Given the description of an element on the screen output the (x, y) to click on. 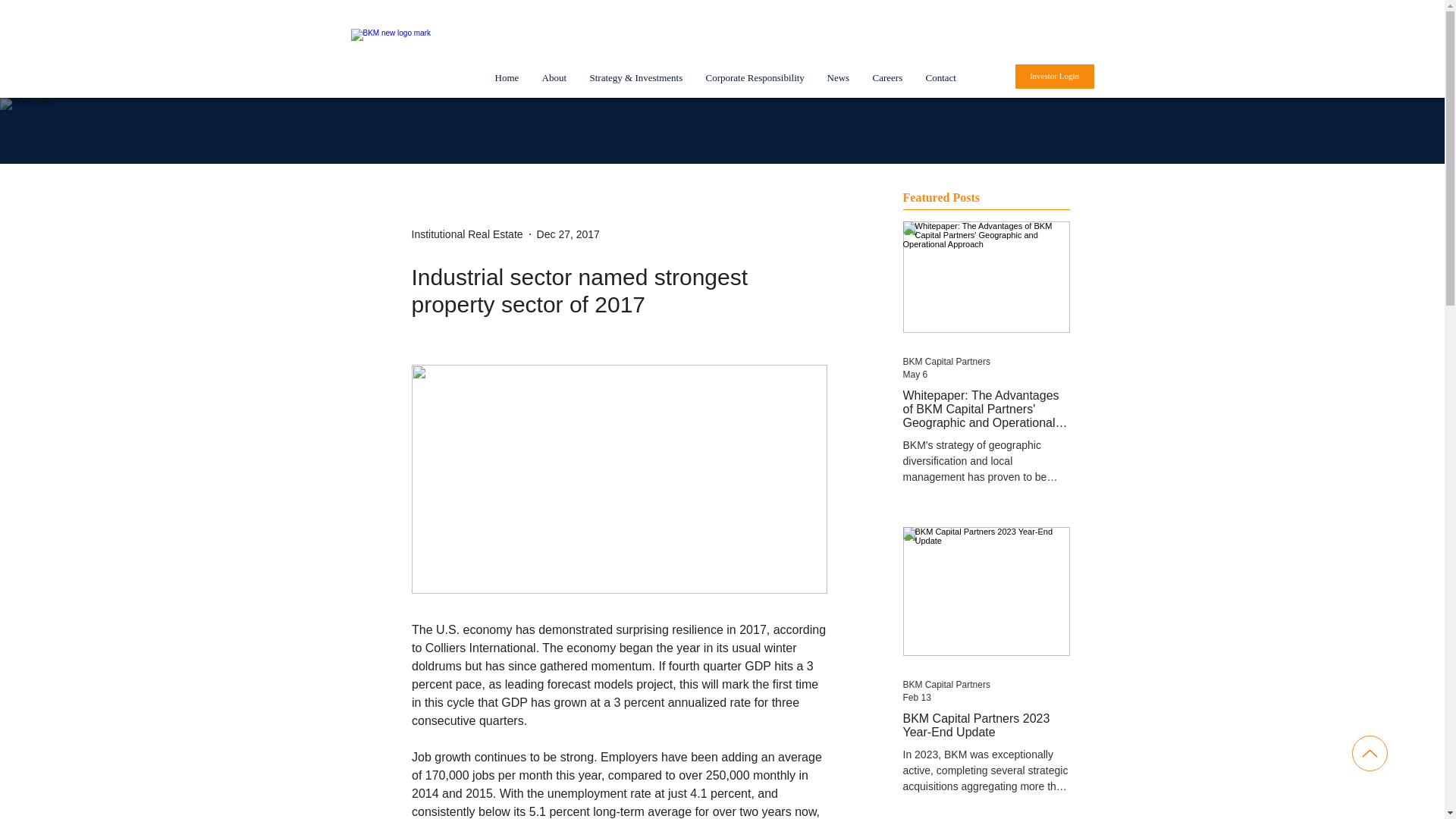
BKM Capital Partners (946, 361)
BKM Capital Partners 2023 Year-End Update (985, 725)
May 6 (914, 374)
Dec 27, 2017 (568, 233)
Contact (941, 77)
Careers (887, 77)
Corporate Responsibility (754, 77)
Institutional Real Estate (466, 233)
BKM Capital Partners (946, 684)
